Given the description of an element on the screen output the (x, y) to click on. 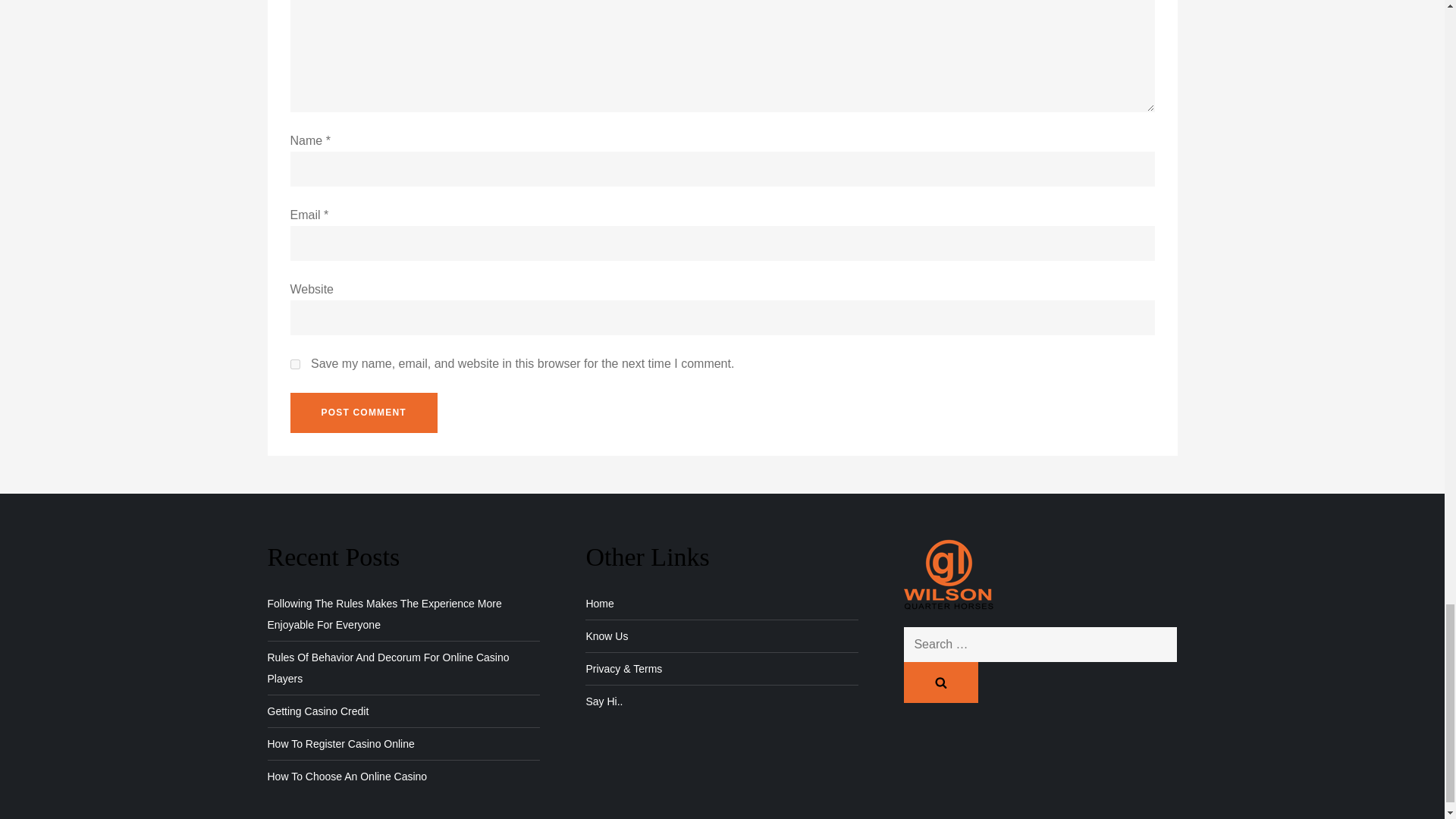
yes (294, 364)
Know Us (606, 636)
Rules Of Behavior And Decorum For Online Casino Players (403, 668)
Post Comment (362, 413)
Home (598, 603)
Search (941, 681)
How To Register Casino Online (339, 743)
Getting Casino Credit (317, 711)
Say Hi.. (604, 701)
Post Comment (362, 413)
How To Choose An Online Casino (346, 776)
